Given the description of an element on the screen output the (x, y) to click on. 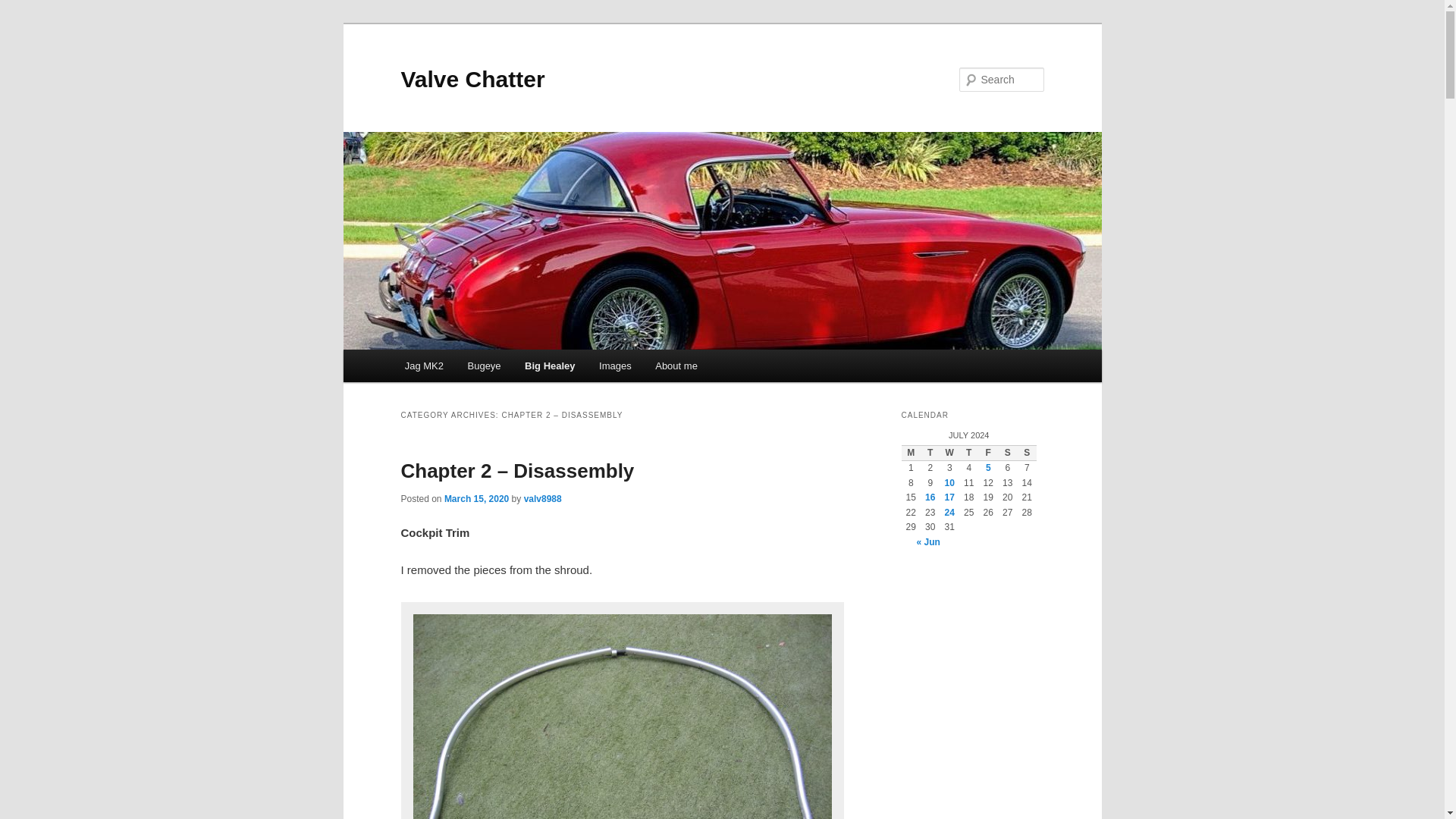
Monday (910, 453)
10:12 am (476, 498)
Tuesday (930, 453)
Search (24, 8)
Jag MK2 (424, 365)
Friday (987, 453)
Wednesday (949, 453)
View all posts by valv8988 (543, 498)
Thursday (968, 453)
Saturday (1007, 453)
Valve Chatter (472, 78)
Sunday (1026, 453)
